Given the description of an element on the screen output the (x, y) to click on. 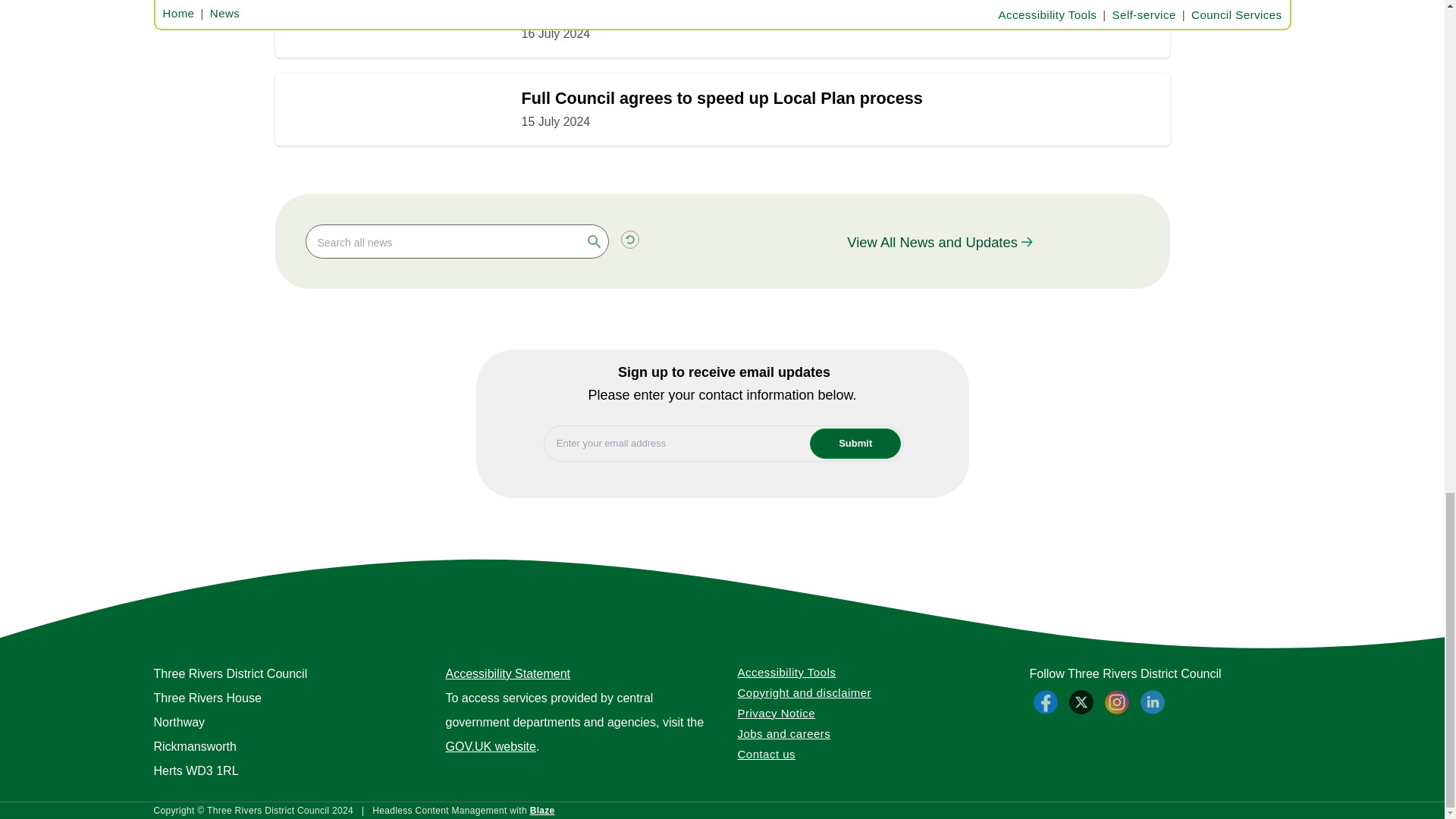
Submit (855, 443)
reset--button (629, 239)
